Given the description of an element on the screen output the (x, y) to click on. 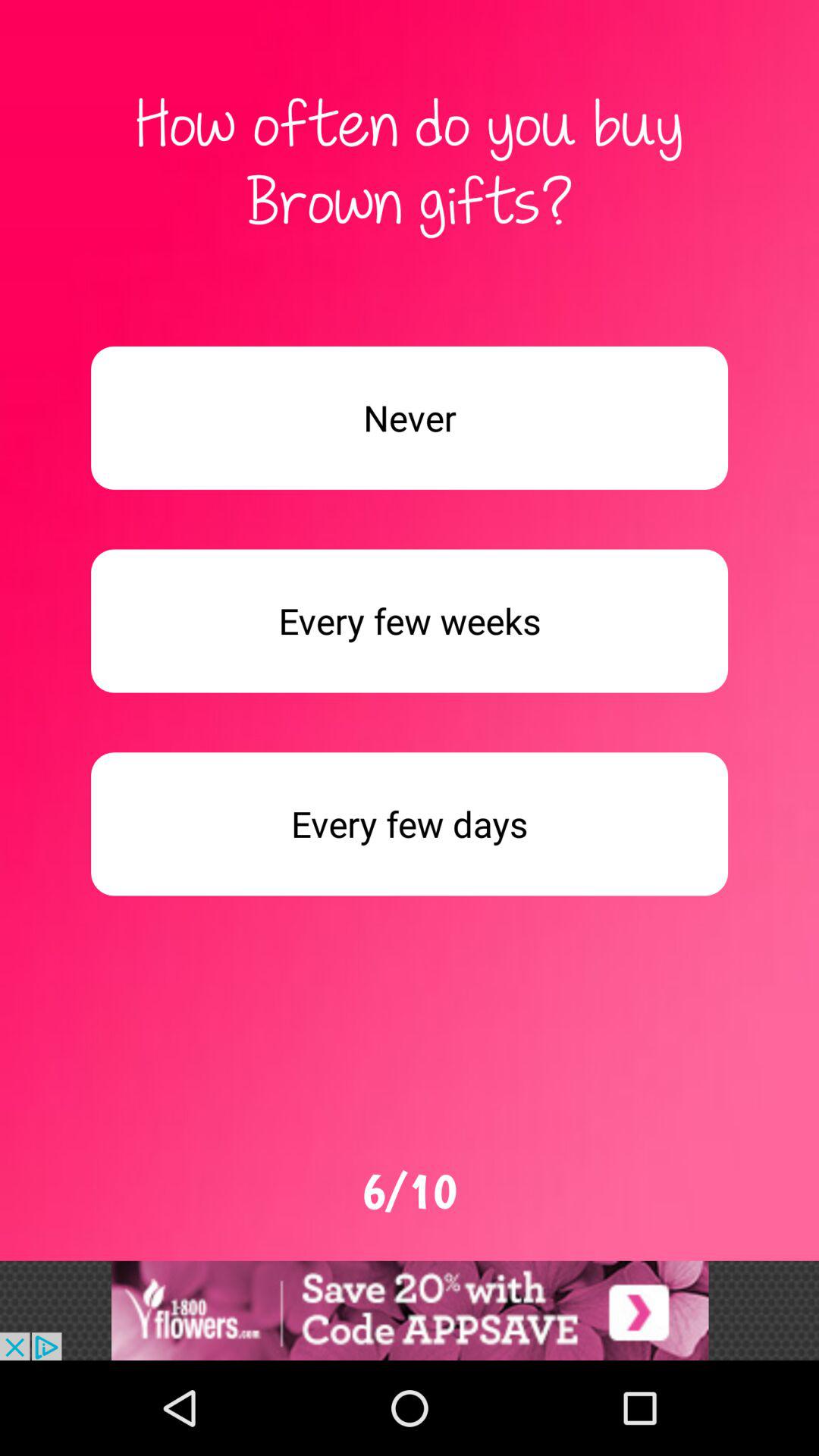
for adverisment (409, 620)
